Given the description of an element on the screen output the (x, y) to click on. 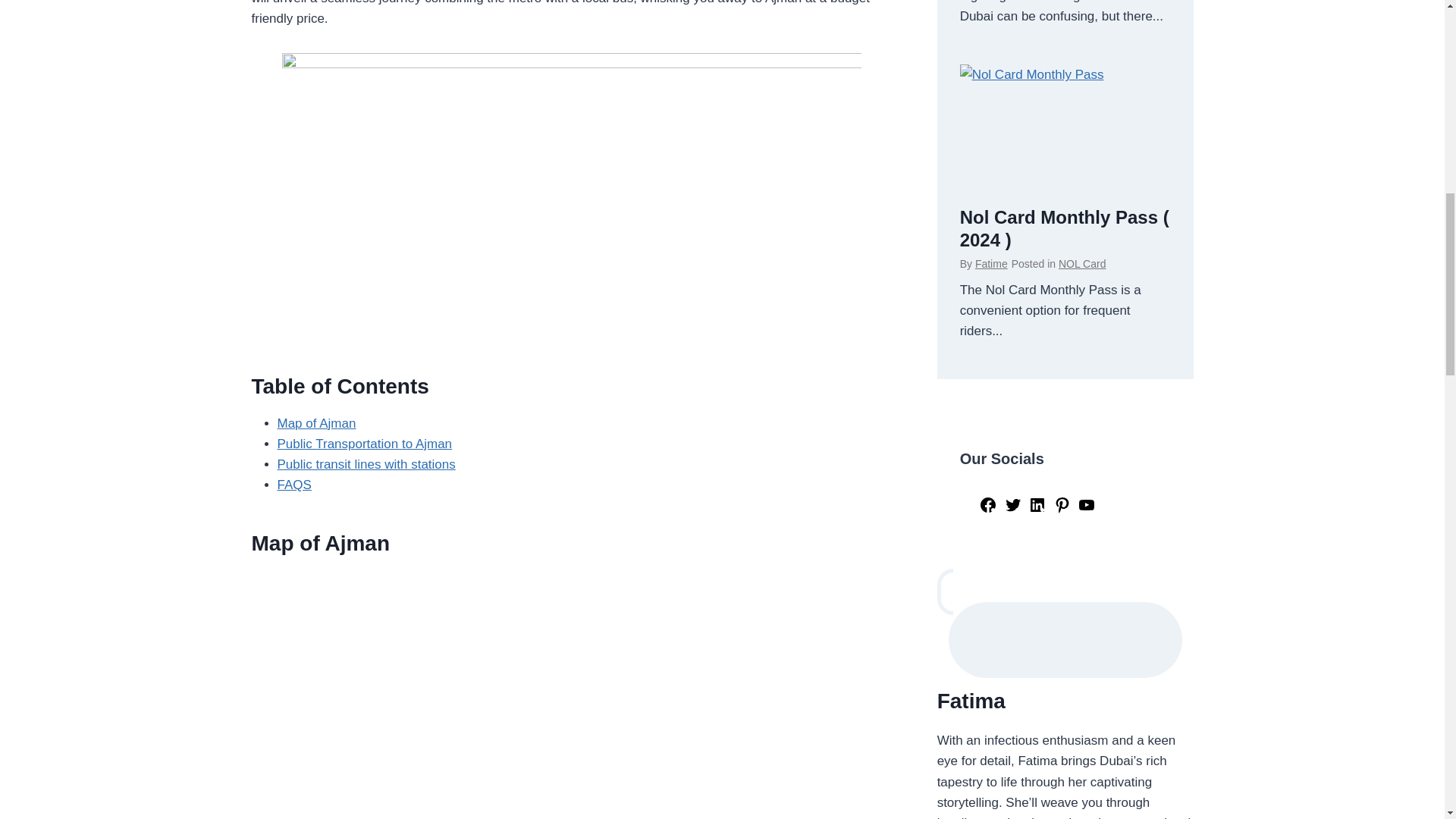
NOL Card (1082, 263)
Twitter (1013, 509)
Map of Ajman (317, 423)
Public Transportation to Ajman (365, 443)
LinkedIn (1036, 509)
FAQS (294, 484)
Pinterest (1061, 509)
Facebook (987, 509)
Fatime (991, 263)
YouTube (1086, 509)
Public transit lines with stations (366, 464)
